Given the description of an element on the screen output the (x, y) to click on. 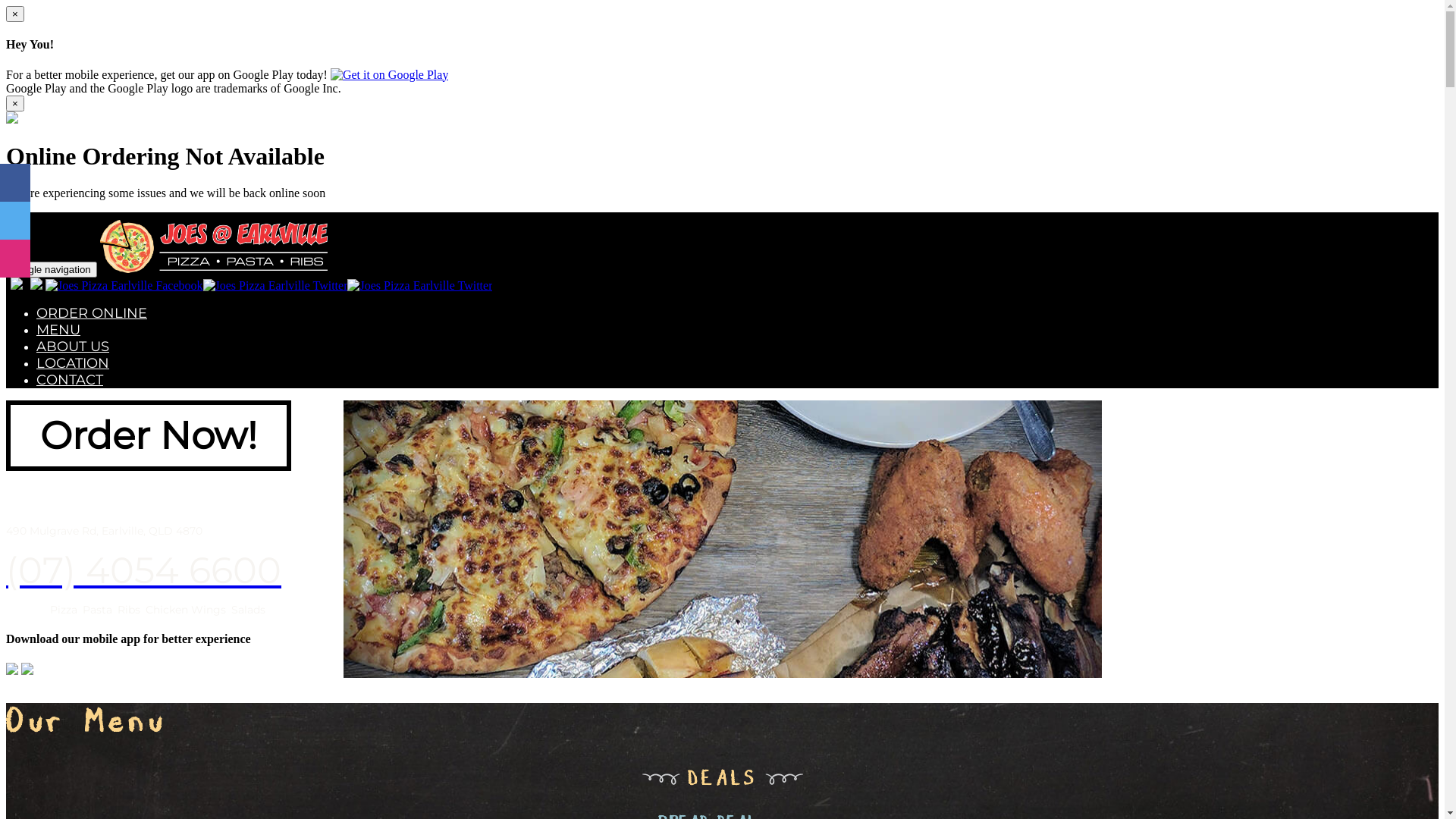
Toggle navigation Element type: text (51, 269)
Share on Twitter Element type: hover (15, 220)
MENU Element type: text (58, 329)
ABOUT US Element type: text (72, 346)
(07) 4054 6600 Element type: text (143, 570)
CONTACT Element type: text (69, 379)
Order Now! Element type: text (148, 444)
ORDER ONLINE Element type: text (91, 312)
Order Now! Element type: text (148, 435)
Share on Facebook Element type: hover (15, 182)
LOCATION Element type: text (72, 362)
